Given the description of an element on the screen output the (x, y) to click on. 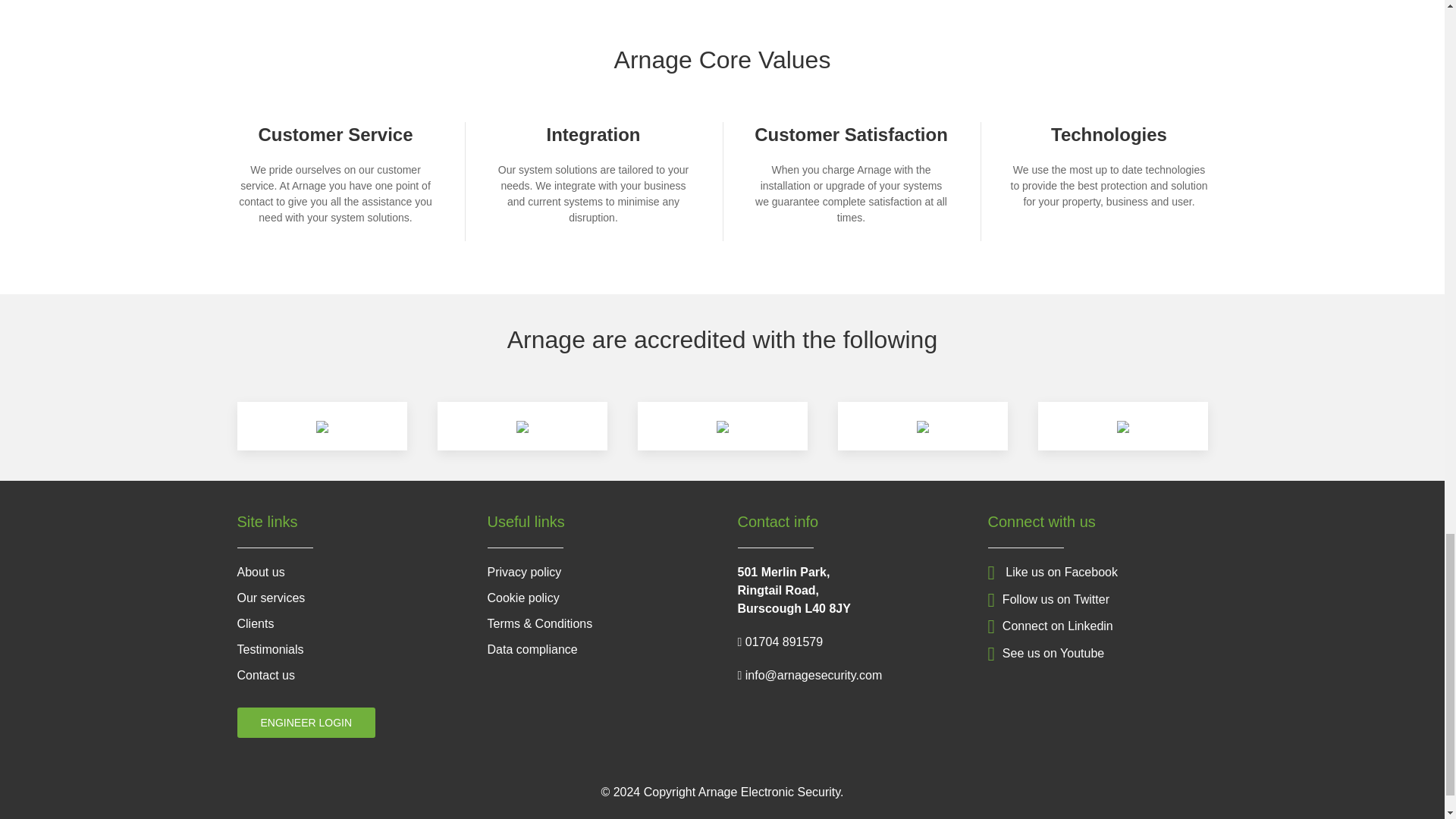
Data compliance (531, 649)
Privacy policy (523, 571)
Clients (254, 623)
Cookie policy (522, 597)
ENGINEER LOGIN (305, 722)
Like us on Facebook (1051, 571)
Follow us on Twitter (1047, 599)
Contact us (264, 675)
Our services (269, 597)
Testimonials (268, 649)
About us (259, 571)
Connect on Linkedin (1049, 625)
